Given the description of an element on the screen output the (x, y) to click on. 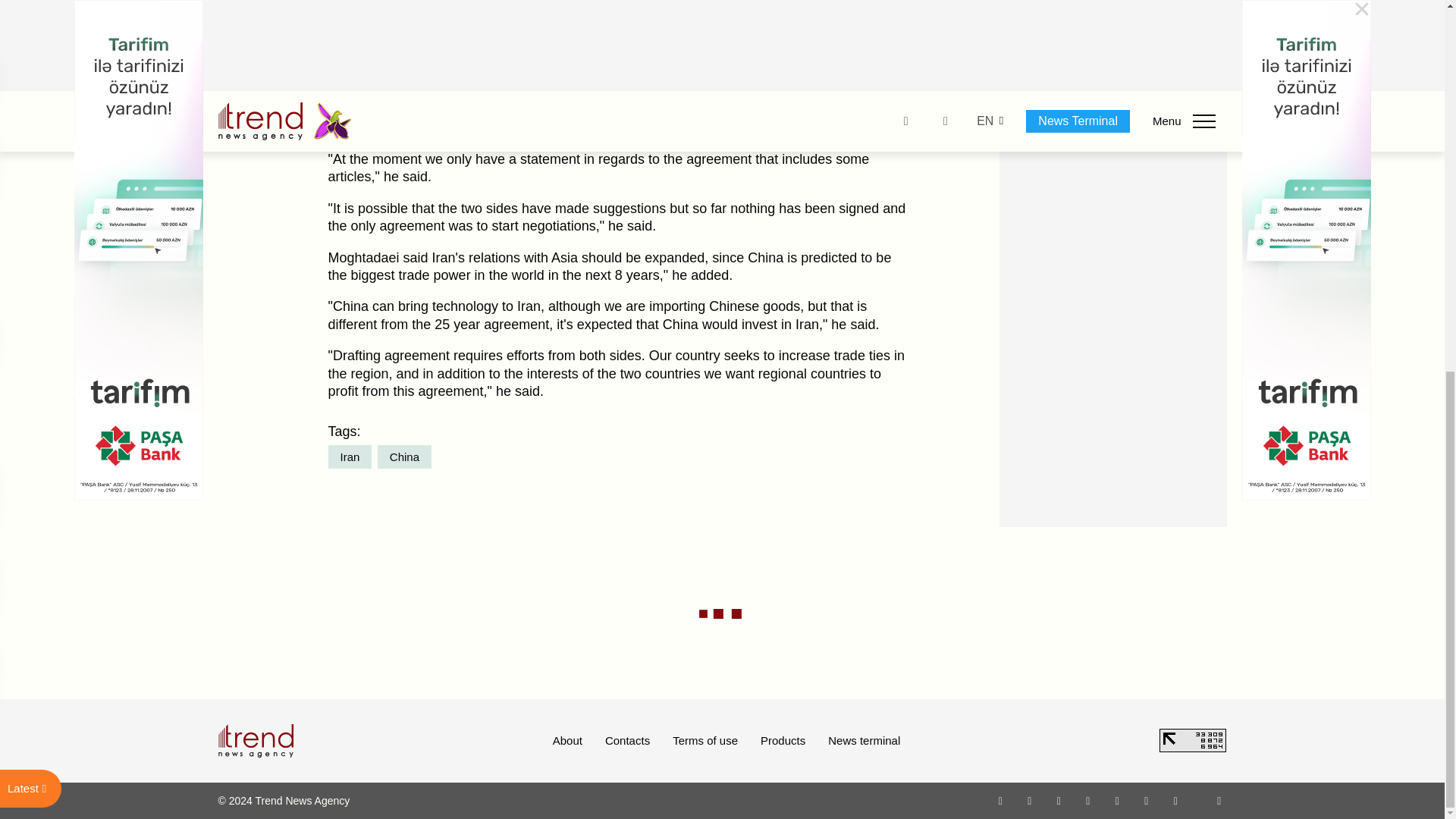
Youtube (1088, 800)
LinkedIn (1146, 800)
Facebook (1029, 800)
RSS Feed (1219, 800)
Android App (1176, 800)
Telegram (1117, 800)
Twitter (1059, 800)
Whatsapp (1000, 800)
